Given the description of an element on the screen output the (x, y) to click on. 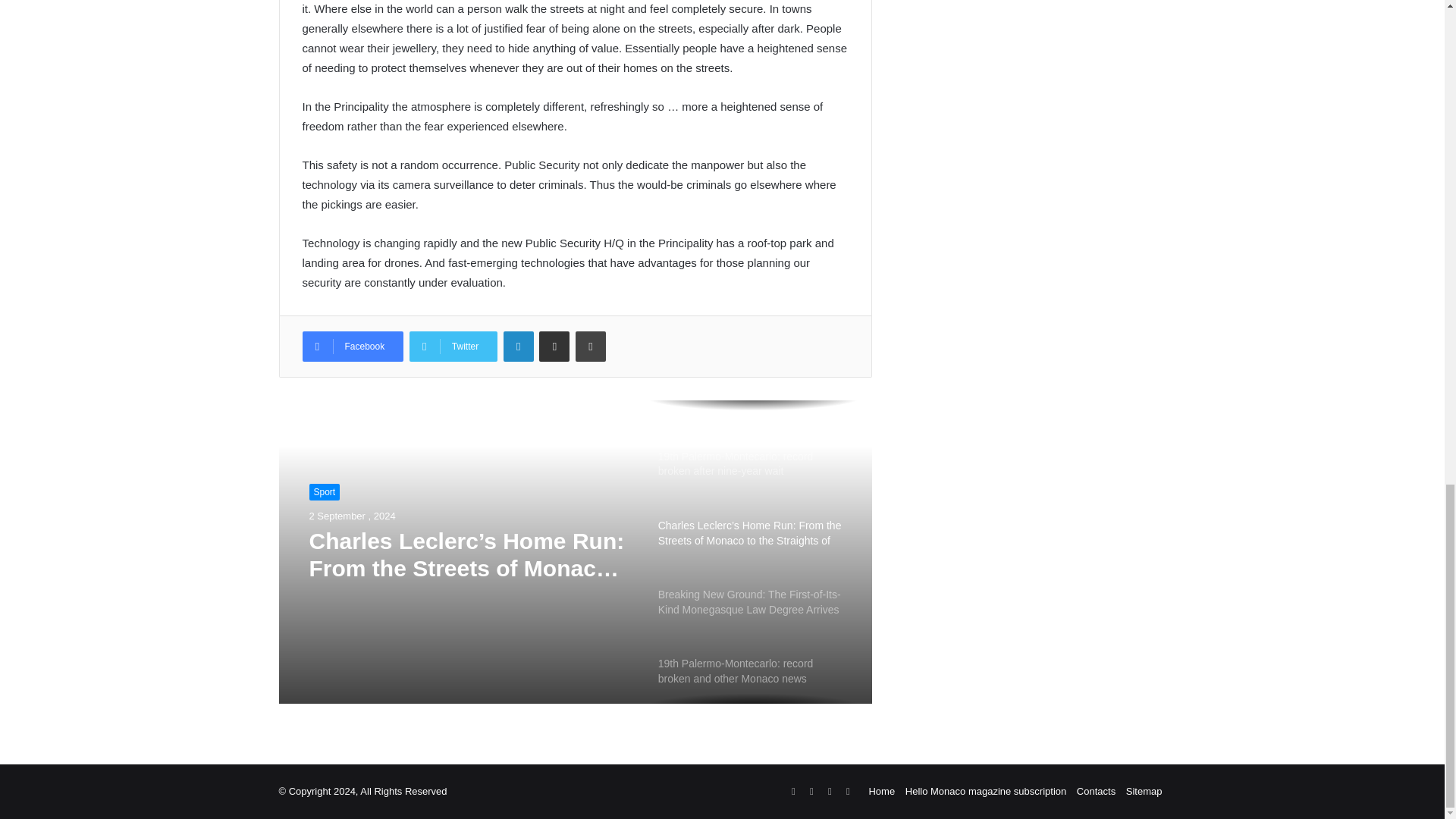
Twitter (453, 346)
LinkedIn (518, 346)
Share via Email (553, 346)
Facebook (352, 346)
Print (590, 346)
